Given the description of an element on the screen output the (x, y) to click on. 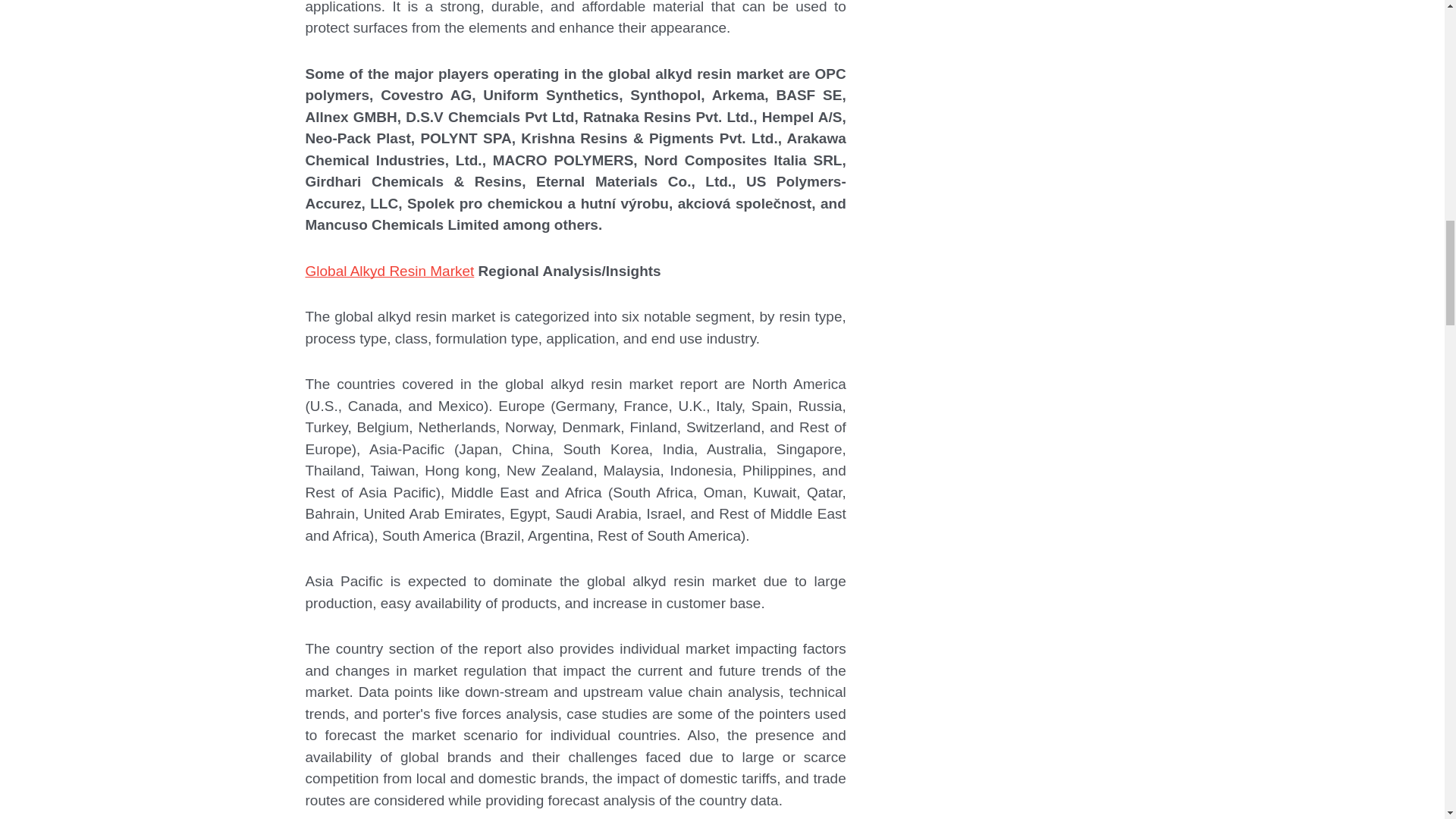
Global Alkyd Resin Market (389, 270)
